Given the description of an element on the screen output the (x, y) to click on. 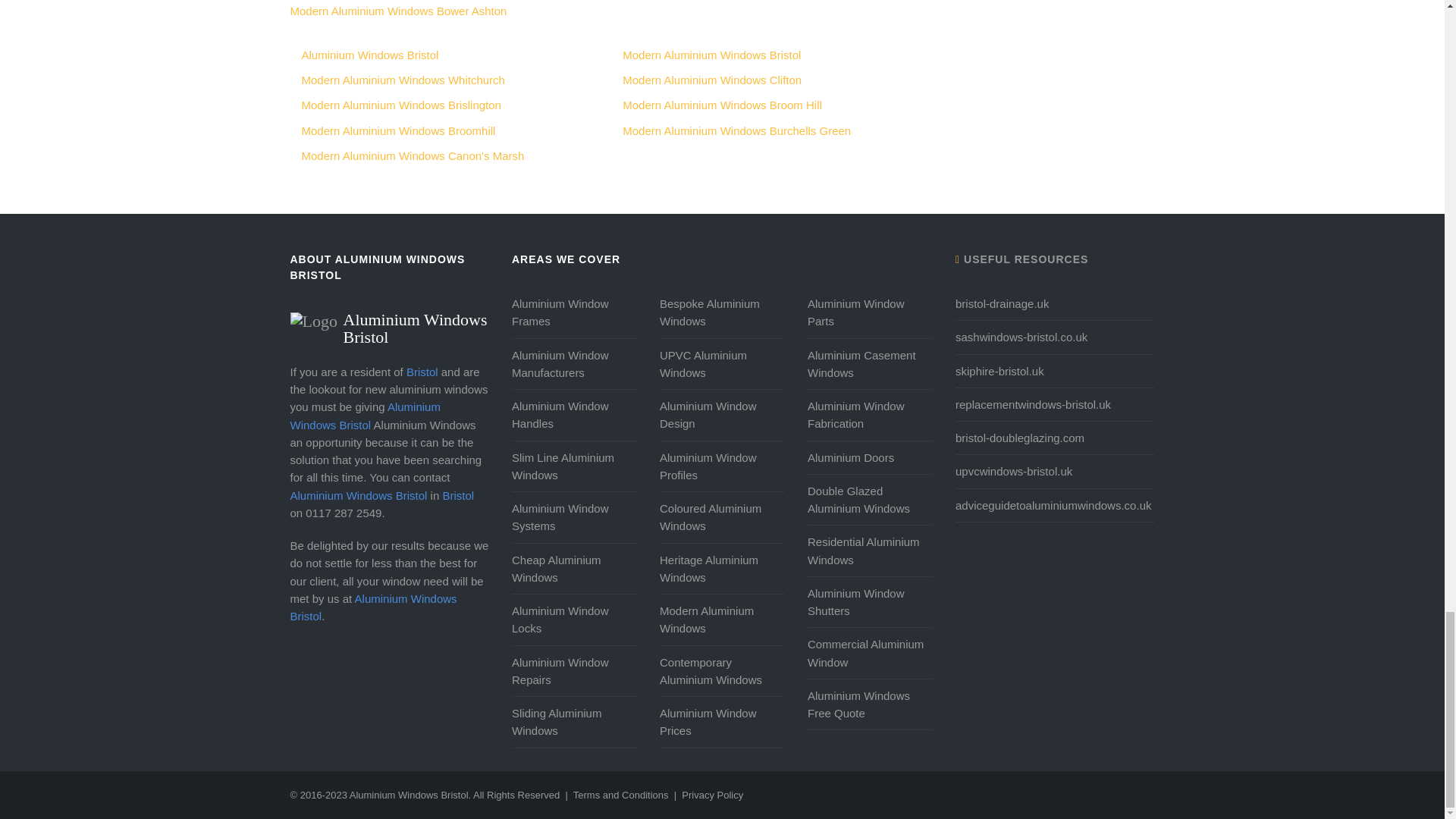
Aluminium Windows Bristol (389, 320)
